Given the description of an element on the screen output the (x, y) to click on. 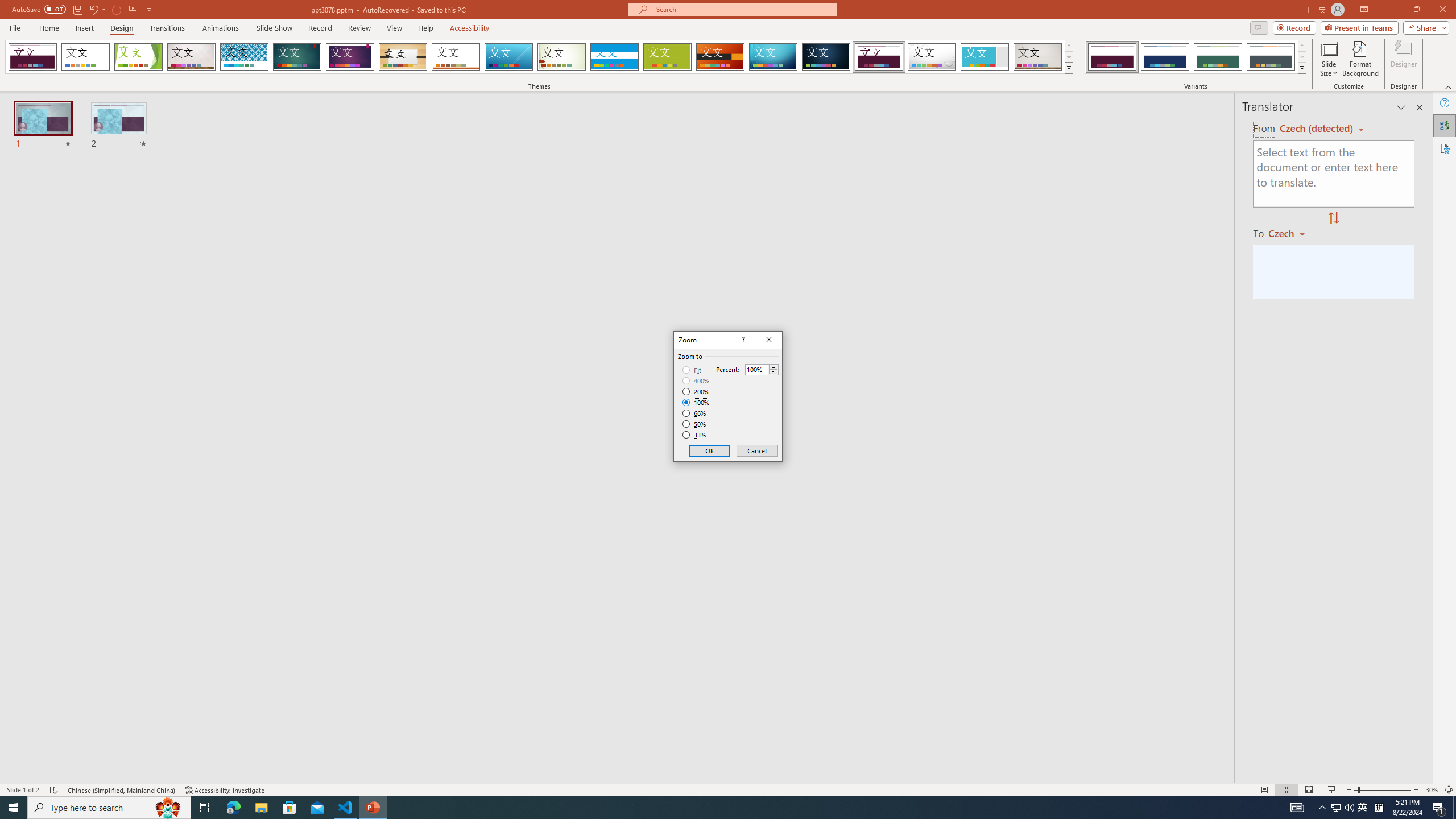
Ion (296, 56)
Normal (1263, 790)
System (6, 6)
Office Theme (85, 56)
Slide Show (273, 28)
Transitions (167, 28)
Reading View (1308, 790)
Banded (614, 56)
Microsoft Edge (233, 807)
Collapse the Ribbon (1448, 86)
Q2790: 100% (1349, 807)
AutoSave (38, 9)
Frame (984, 56)
Less (772, 372)
